Given the description of an element on the screen output the (x, y) to click on. 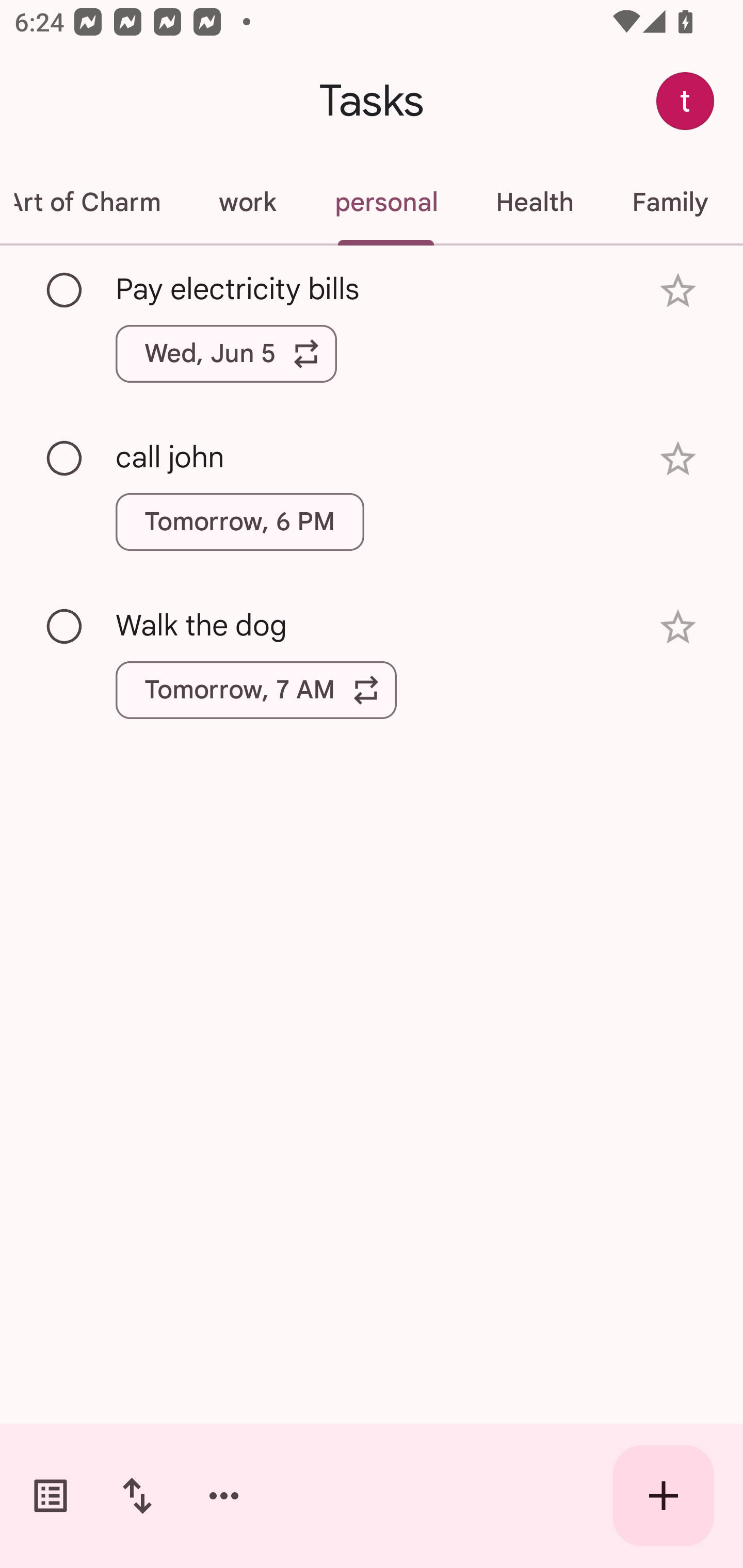
The Art of Charm (94, 202)
work (247, 202)
Health (534, 202)
Family (669, 202)
Add star (677, 290)
Mark as complete (64, 290)
Wed, Jun 5 (225, 353)
Add star (677, 458)
Mark as complete (64, 459)
Tomorrow, 6 PM (239, 522)
Add star (677, 627)
Mark as complete (64, 627)
Tomorrow, 7 AM (255, 689)
Switch task lists (50, 1495)
Create new task (663, 1495)
Change sort order (136, 1495)
More options (223, 1495)
